Given the description of an element on the screen output the (x, y) to click on. 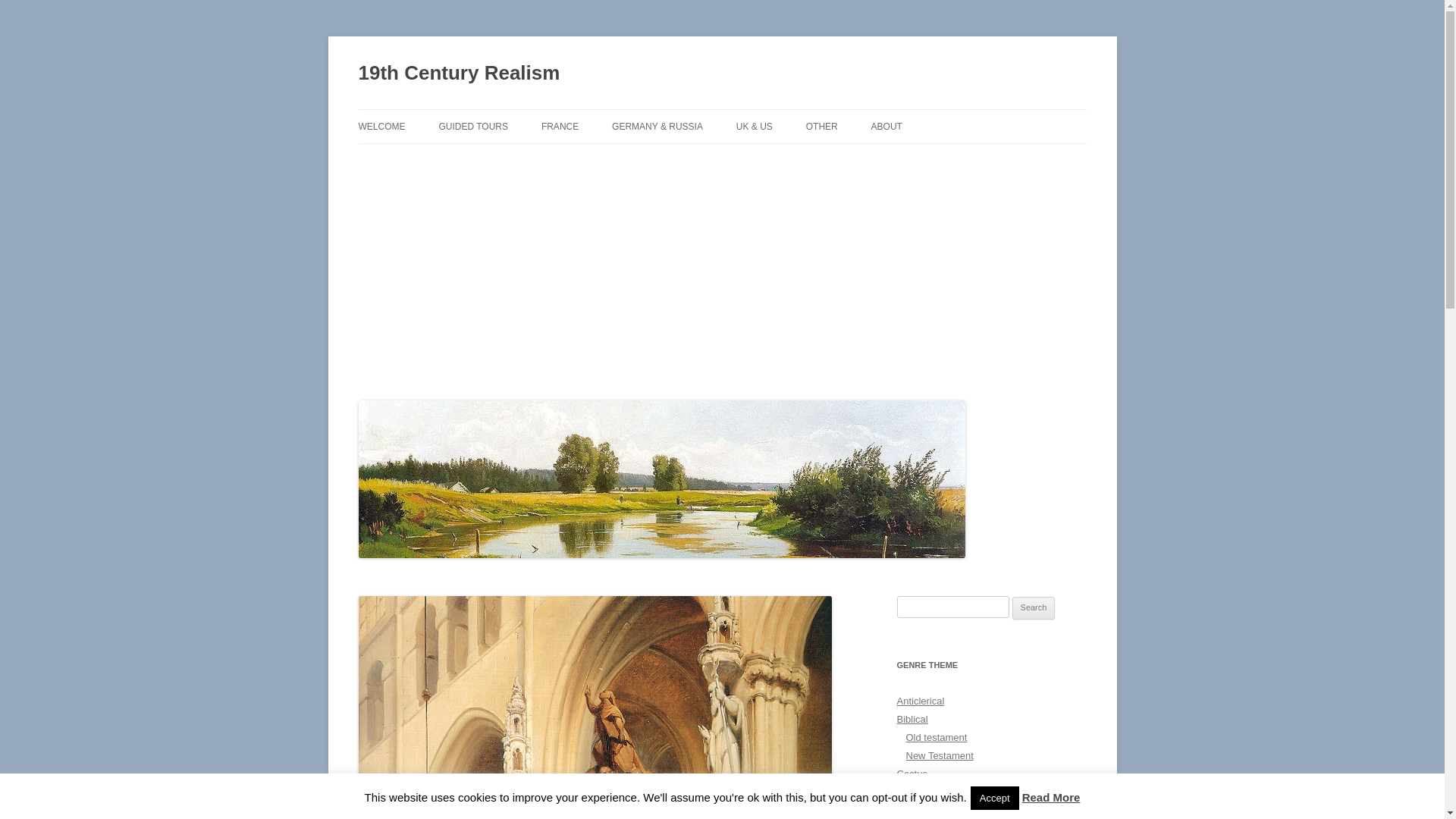
Search Element type: text (1033, 607)
Read More Element type: text (1051, 796)
ABOUT Element type: text (886, 126)
US Element type: text (812, 158)
GERMANY Element type: text (687, 158)
Cactus Element type: text (911, 773)
Old testament Element type: text (935, 737)
ARTISTS AT WAR Element type: text (513, 158)
Skip to content Element type: text (721, 109)
GERMANY & RUSSIA Element type: text (656, 126)
OTHER Element type: text (821, 126)
FRANCE Element type: text (559, 126)
GUIDED TOURS Element type: text (473, 126)
19th Century Realism Element type: text (458, 72)
New Testament Element type: text (938, 755)
Anticlerical Element type: text (920, 700)
Children Element type: text (914, 791)
Biblical Element type: text (911, 718)
Customs & Myths Element type: text (934, 809)
WELCOME Element type: text (380, 126)
Advertisement Element type: hover (721, 268)
UK & US Element type: text (754, 126)
Accept Element type: text (994, 797)
